Given the description of an element on the screen output the (x, y) to click on. 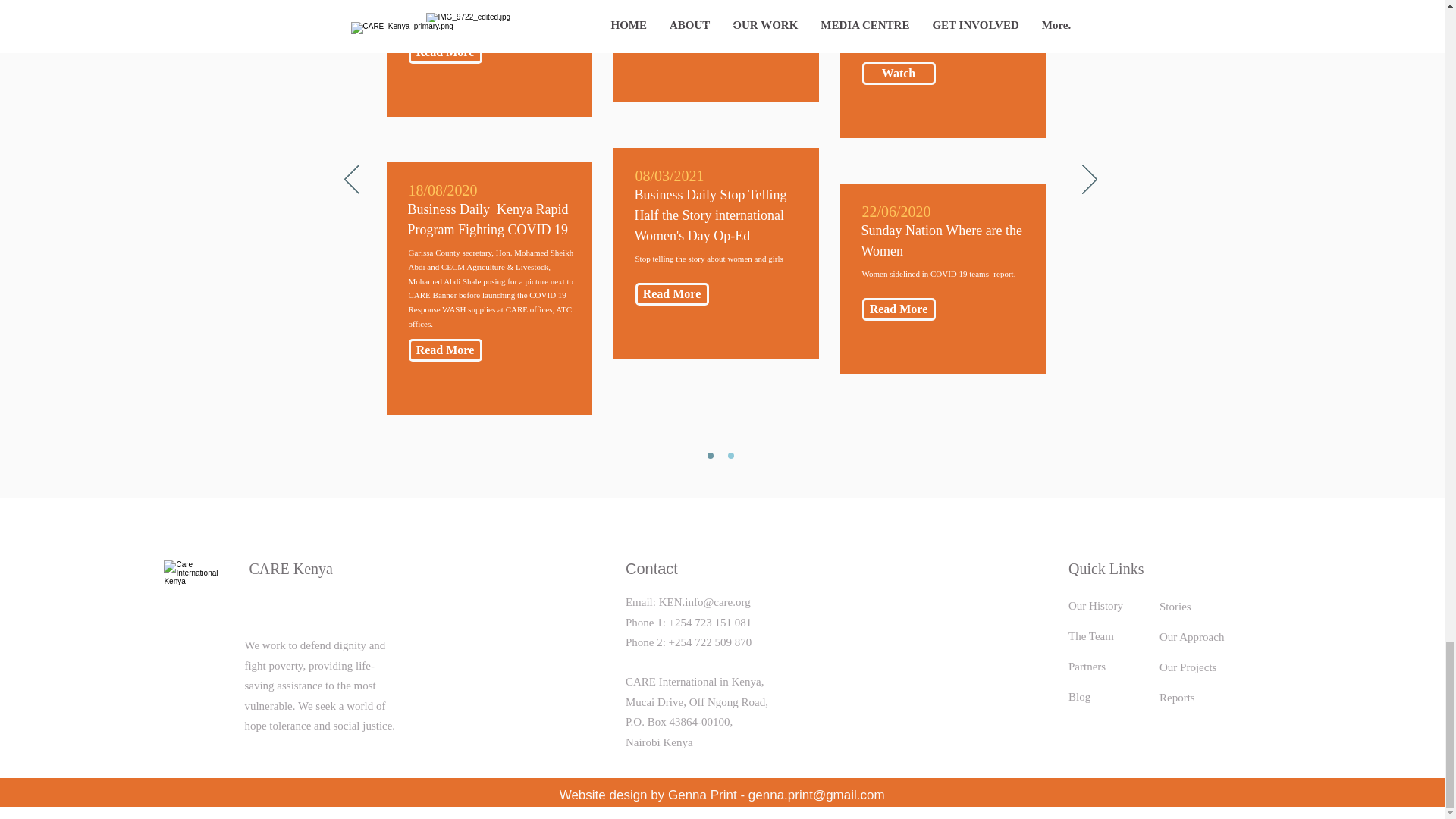
Read More (897, 309)
Read More (444, 51)
Read More (671, 293)
Watch (897, 73)
Read More (444, 350)
Watch (671, 37)
Logo (192, 596)
